Given the description of an element on the screen output the (x, y) to click on. 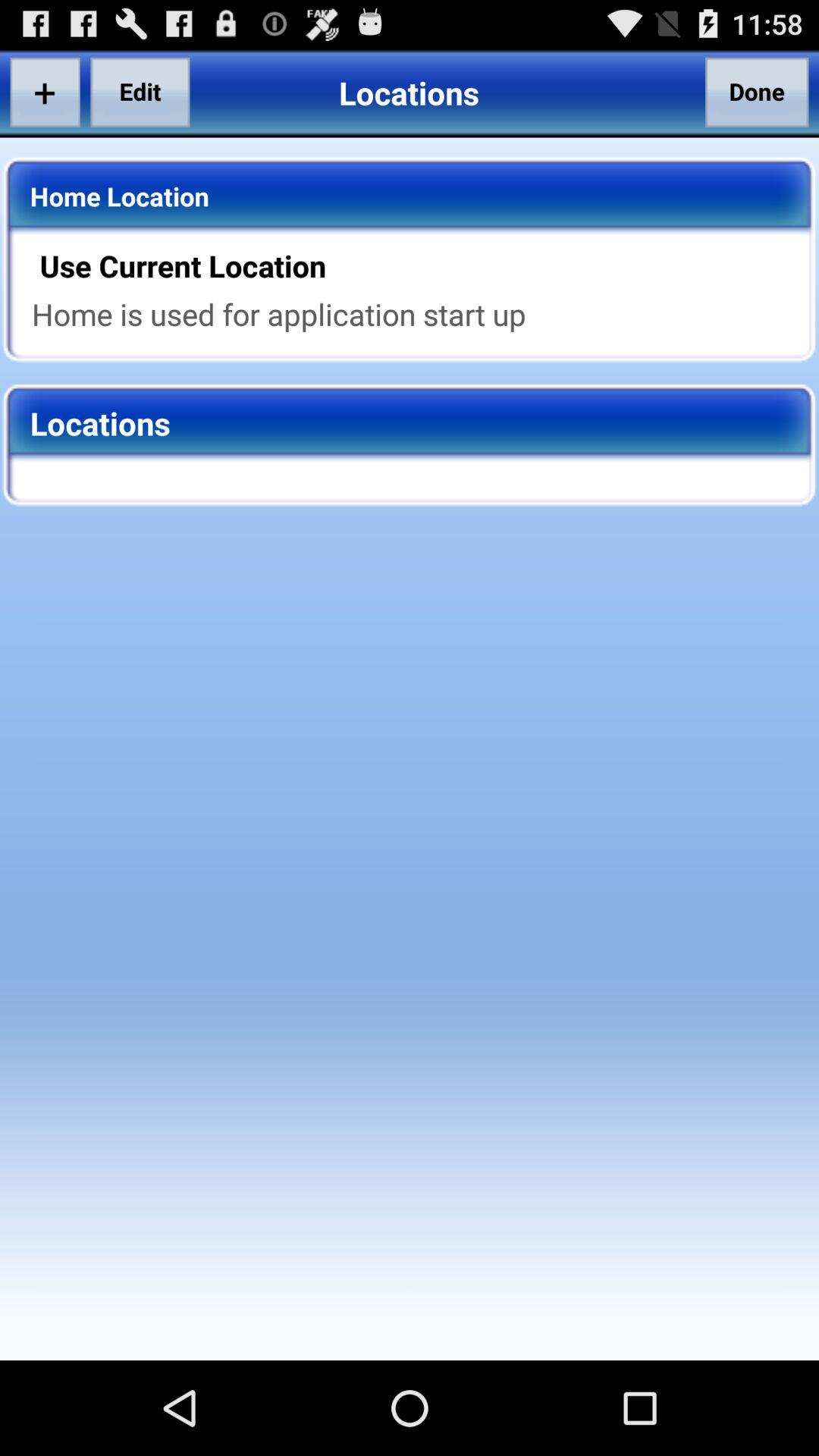
choose app to the right of locations item (756, 92)
